Given the description of an element on the screen output the (x, y) to click on. 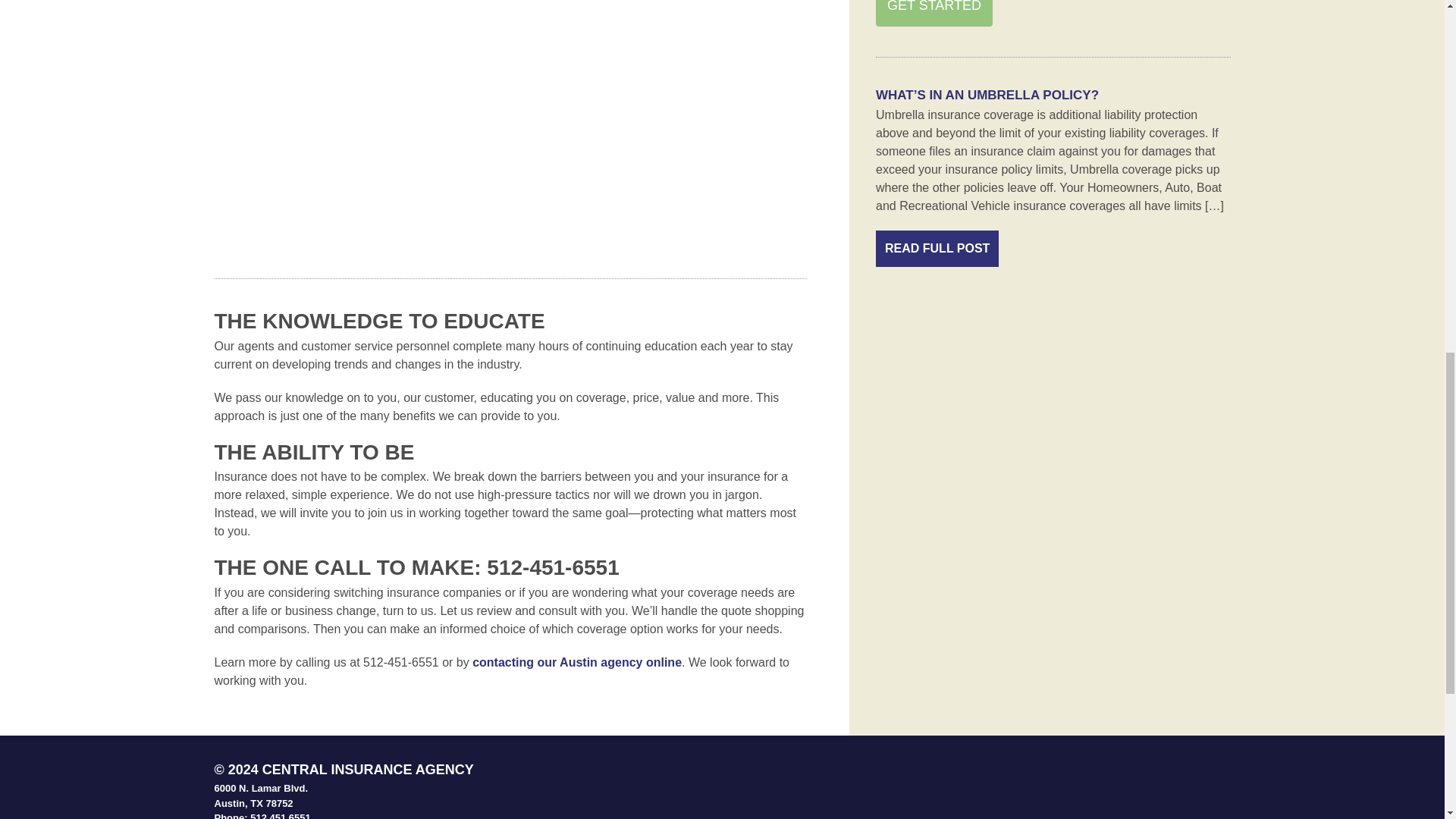
Get Started (934, 13)
contacting our Austin agency online (576, 662)
Get Started (934, 13)
